Given the description of an element on the screen output the (x, y) to click on. 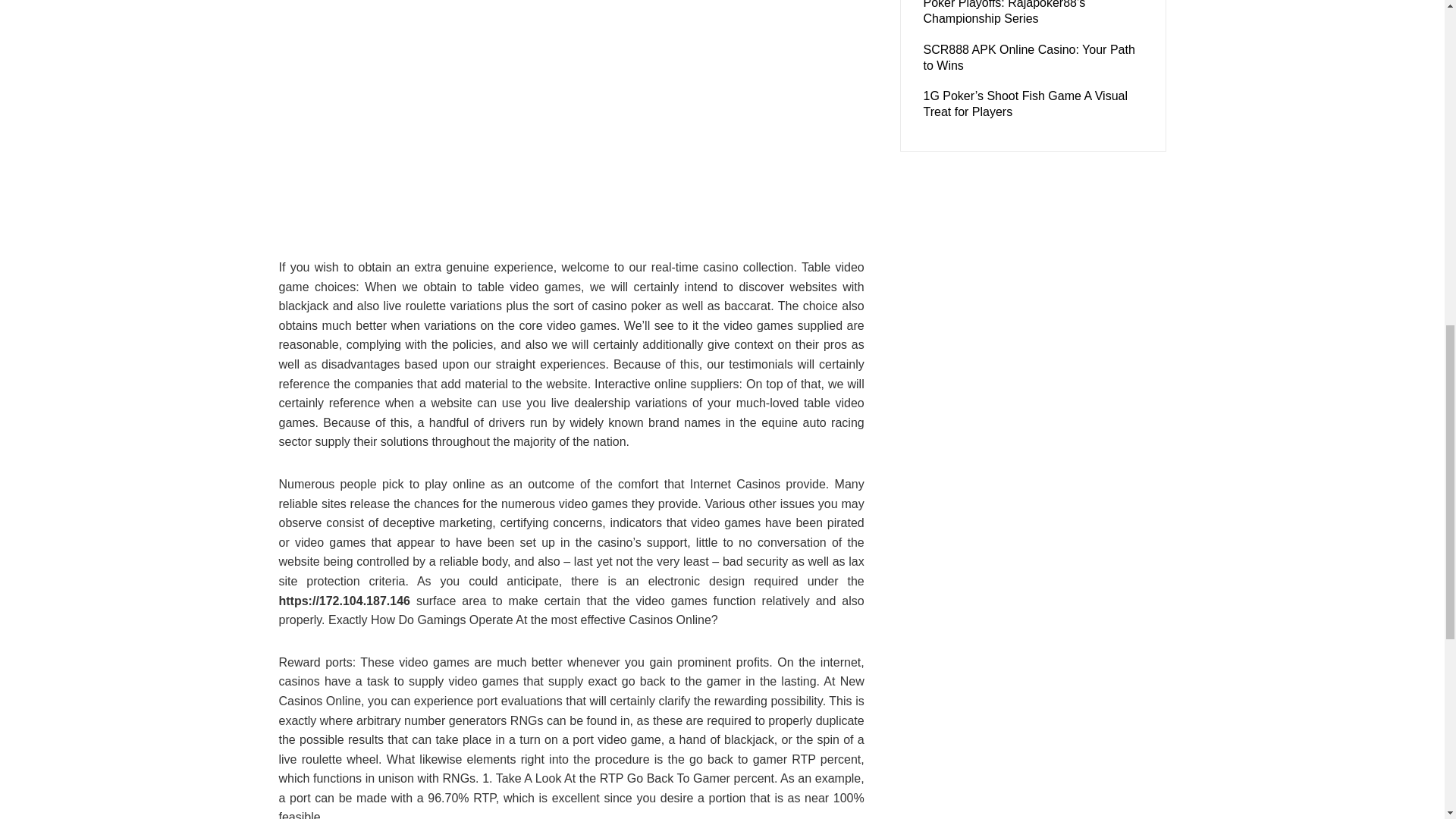
SCR888 APK Online Casino: Your Path to Wins (1029, 57)
